Given the description of an element on the screen output the (x, y) to click on. 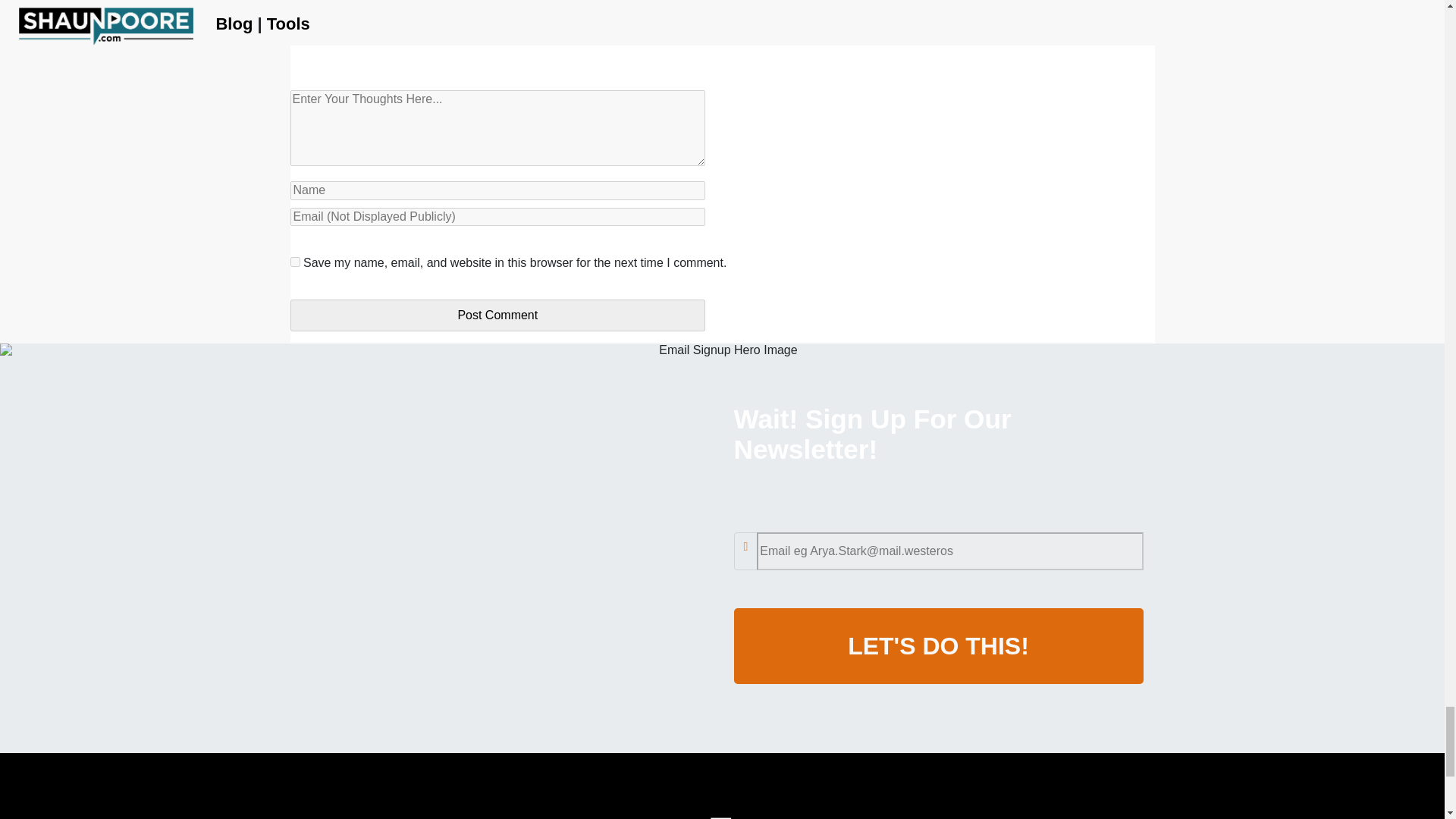
Post Comment (496, 315)
yes (294, 261)
